Given the description of an element on the screen output the (x, y) to click on. 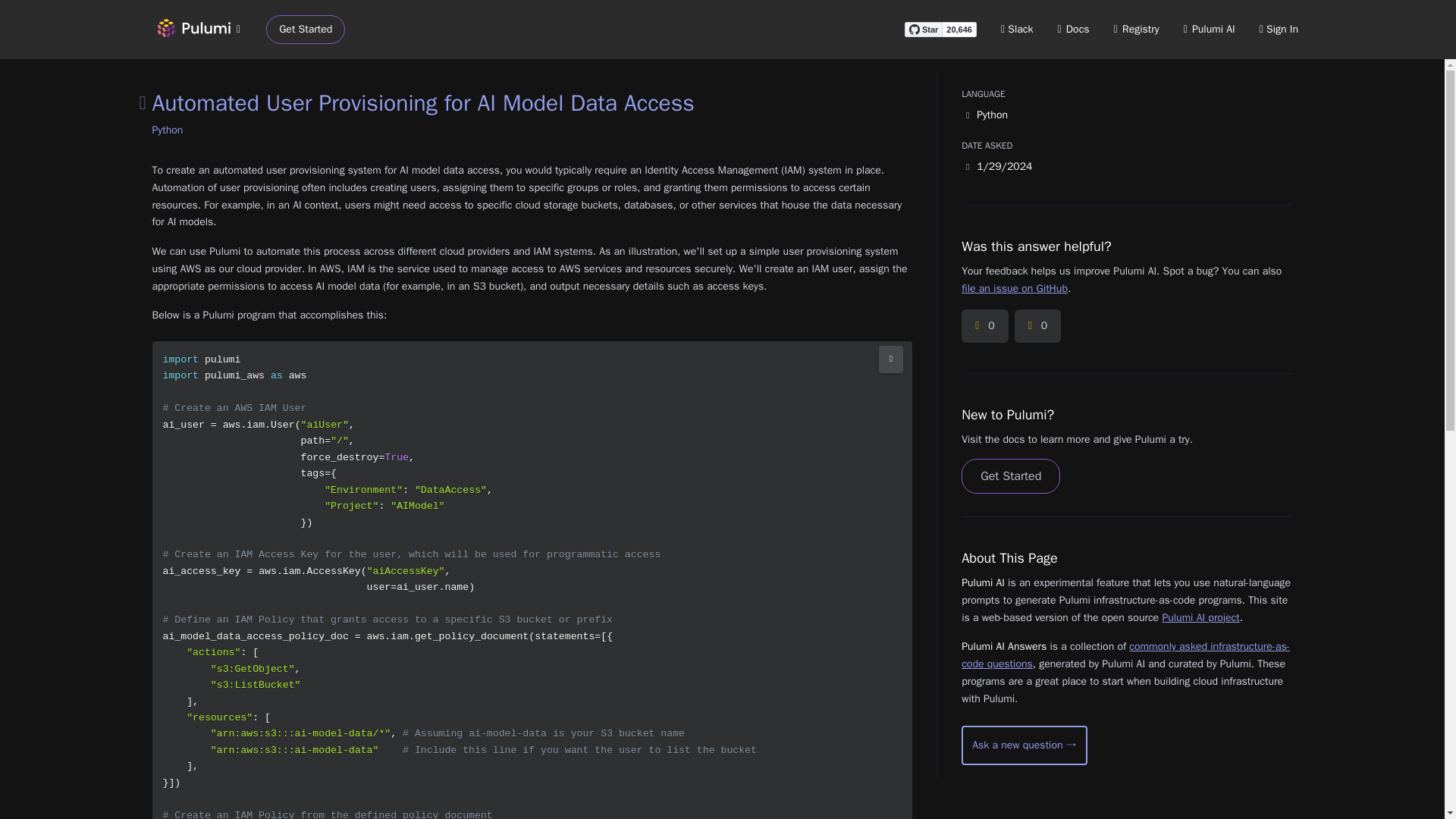
file an issue on GitHub (1013, 287)
Docs (1073, 29)
Pulumi AI (1208, 29)
0 (1037, 326)
0 (984, 326)
Start a new conversation with Pulumi AI (1023, 744)
Get Started (1009, 475)
Upvote this answer (984, 326)
Downvote this answer (1037, 326)
Sign In (1278, 29)
Slack (1017, 29)
20,646 (959, 29)
Registry (1135, 29)
Get Started (305, 29)
 Star (923, 29)
